Given the description of an element on the screen output the (x, y) to click on. 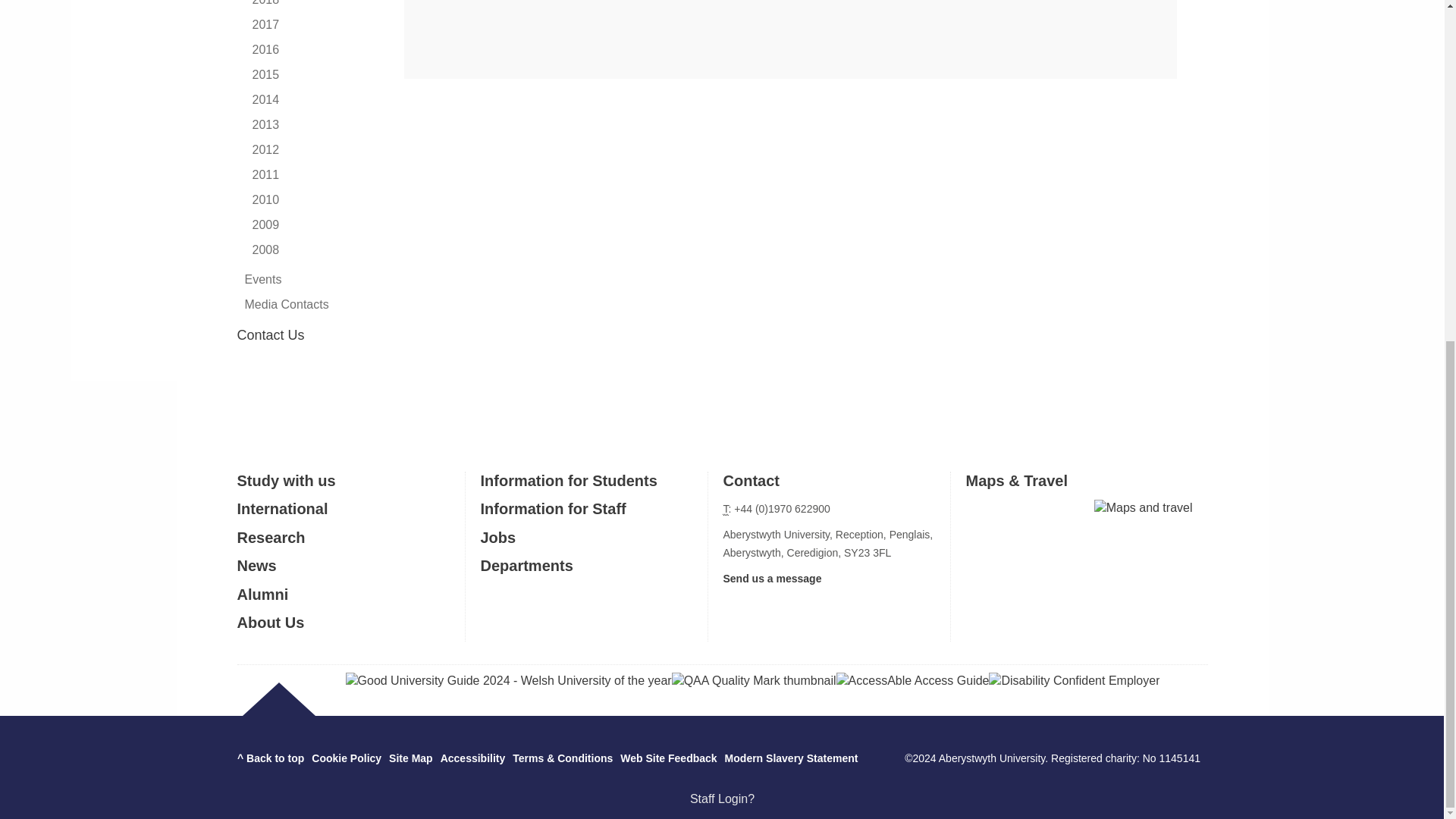
Send us feedback on this web site. (668, 758)
A text map of this web site. (410, 758)
Cookie Policy (346, 758)
Accessibility information (473, 758)
Modern Slavery Statement (792, 758)
